Given the description of an element on the screen output the (x, y) to click on. 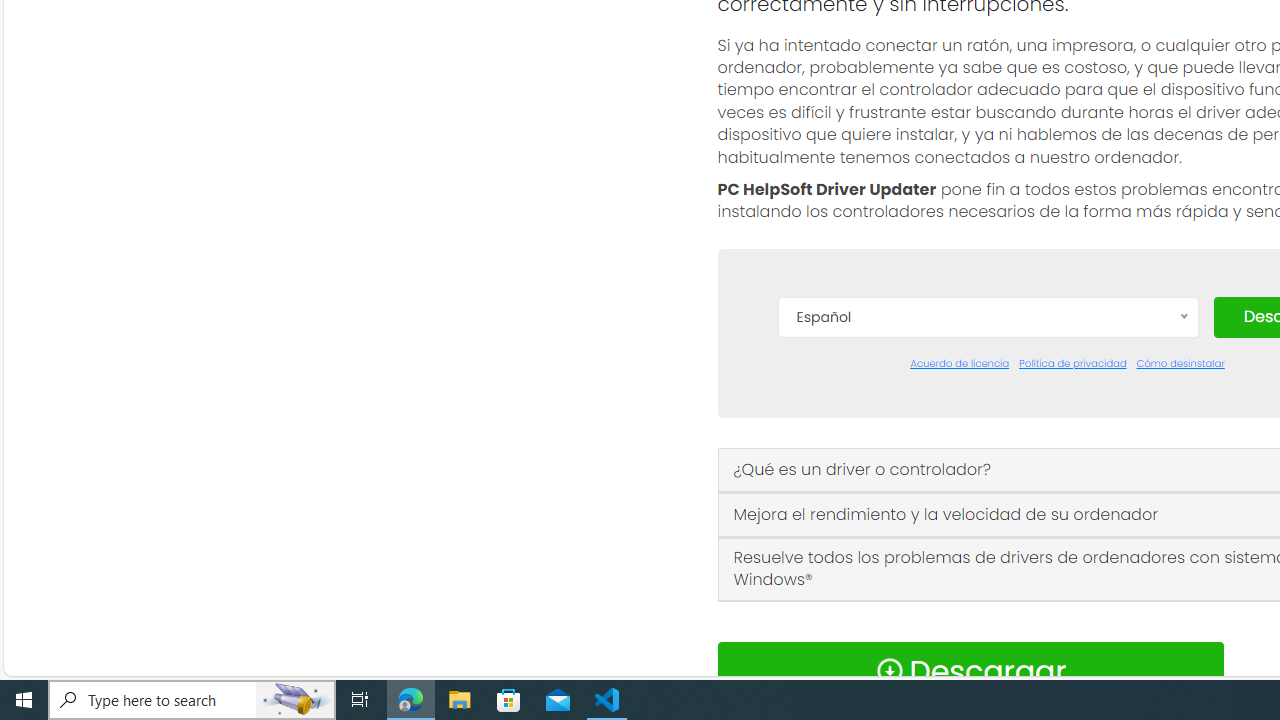
Download Icon (889, 670)
Download Icon Descargar (969, 670)
Nederlands (987, 621)
Norsk (987, 652)
Italiano (987, 591)
Deutsch (987, 472)
Dansk (987, 411)
Acuerdo de licencia (959, 363)
English (987, 501)
